Given the description of an element on the screen output the (x, y) to click on. 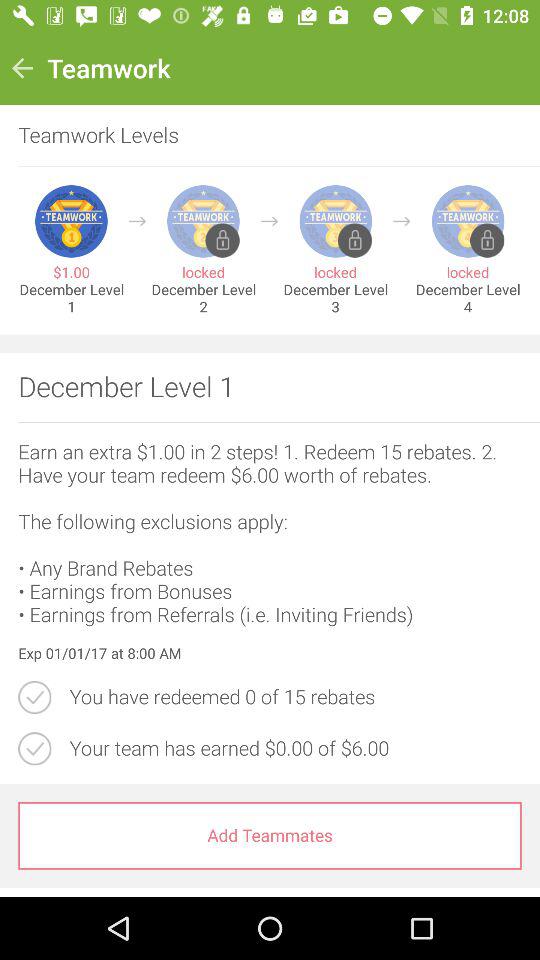
turn off the item above exp 01 01 (269, 533)
